Given the description of an element on the screen output the (x, y) to click on. 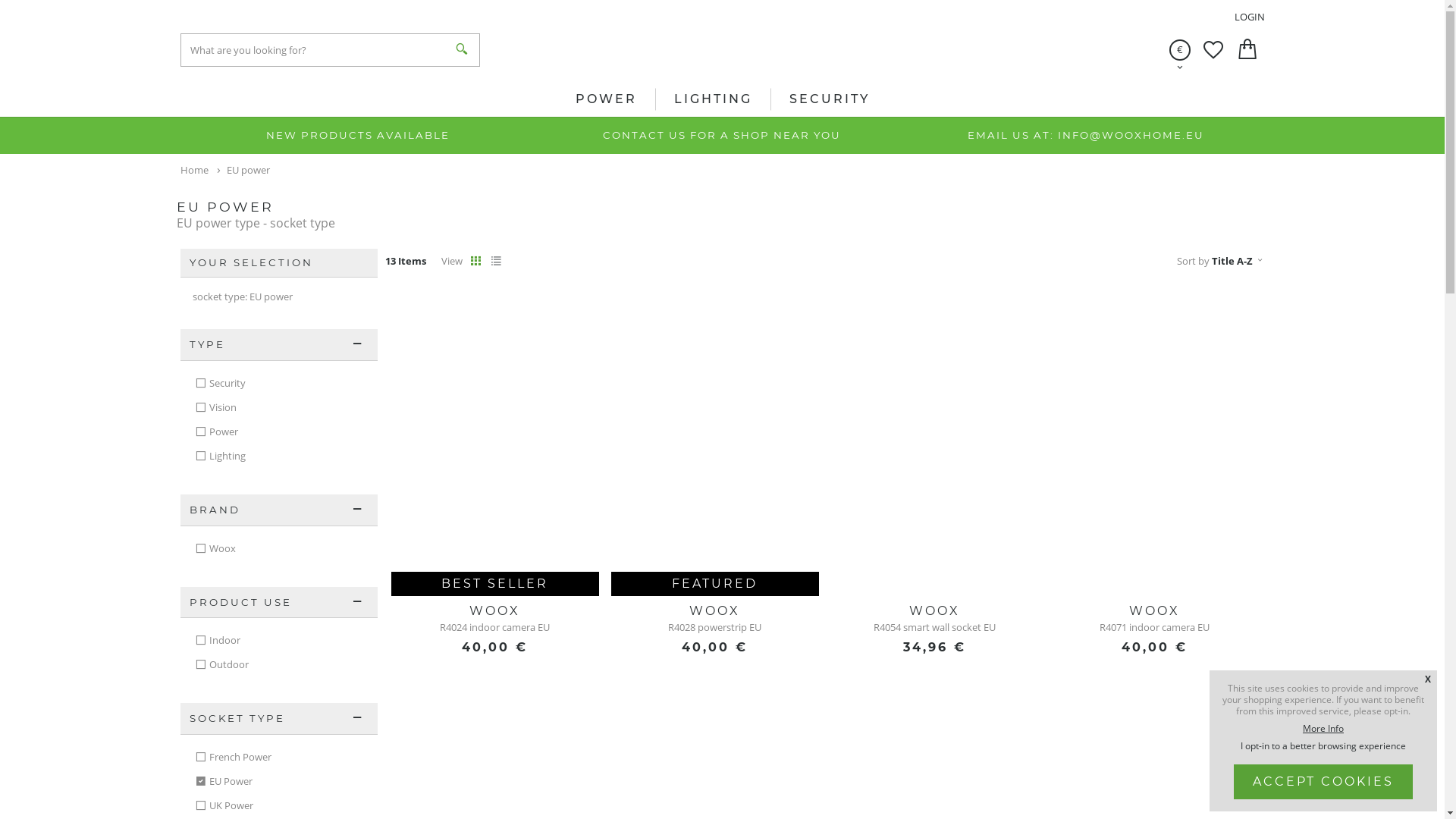
ACCEPT COOKIES Element type: text (1322, 781)
LIGHTING Element type: text (712, 98)
R4071 indoor camera EU Element type: hover (1154, 440)
List View Element type: hover (495, 260)
Outdoor Element type: text (278, 664)
Lighting Element type: text (278, 456)
LOGIN Element type: text (1249, 16)
WOOX
R4054 smart wall socket EU Element type: text (934, 617)
SECURITY Element type: text (828, 98)
X Element type: text (1427, 678)
BEST SELLER Element type: text (495, 440)
Vision Element type: text (278, 407)
EU Power Element type: text (278, 781)
WOOX
R4024 indoor camera EU Element type: text (494, 617)
UK Power Element type: text (278, 805)
More Info Element type: text (1322, 727)
Sort by Title A-Z Element type: text (1220, 260)
Power Element type: text (278, 431)
WOOX
R4071 indoor camera EU Element type: text (1154, 617)
Home Element type: text (195, 169)
FEATURED Element type: text (715, 440)
NEW PRODUCTS AVAILABLE Element type: text (358, 134)
CONTACT US FOR A SHOP NEAR YOU Element type: text (721, 134)
POWER Element type: text (605, 98)
Woox Element type: text (278, 548)
Indoor Element type: text (278, 640)
French Power Element type: text (278, 757)
Grid View Element type: hover (475, 260)
Security Element type: text (278, 383)
WOOX
R4028 powerstrip EU Element type: text (714, 617)
R4054 smart wall socket EU Element type: hover (934, 440)
EMAIL US AT: INFO@WOOXHOME.EU Element type: text (1085, 134)
